Given the description of an element on the screen output the (x, y) to click on. 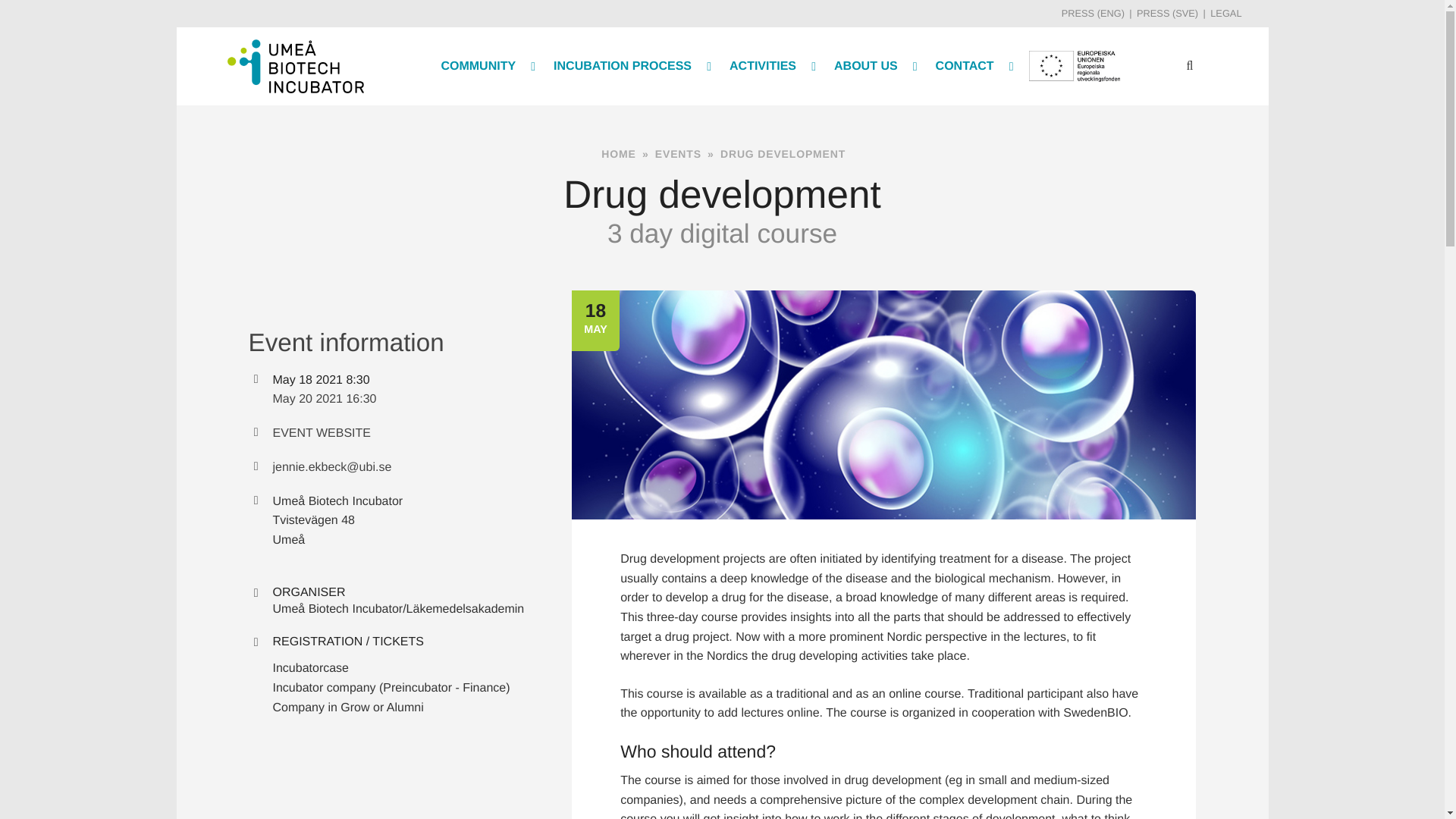
ABOUT US (874, 65)
ACTIVITIES (771, 65)
CONTACT (973, 65)
INCUBATION PROCESS (631, 65)
LEGAL (1219, 12)
COMMUNITY (486, 65)
